Given the description of an element on the screen output the (x, y) to click on. 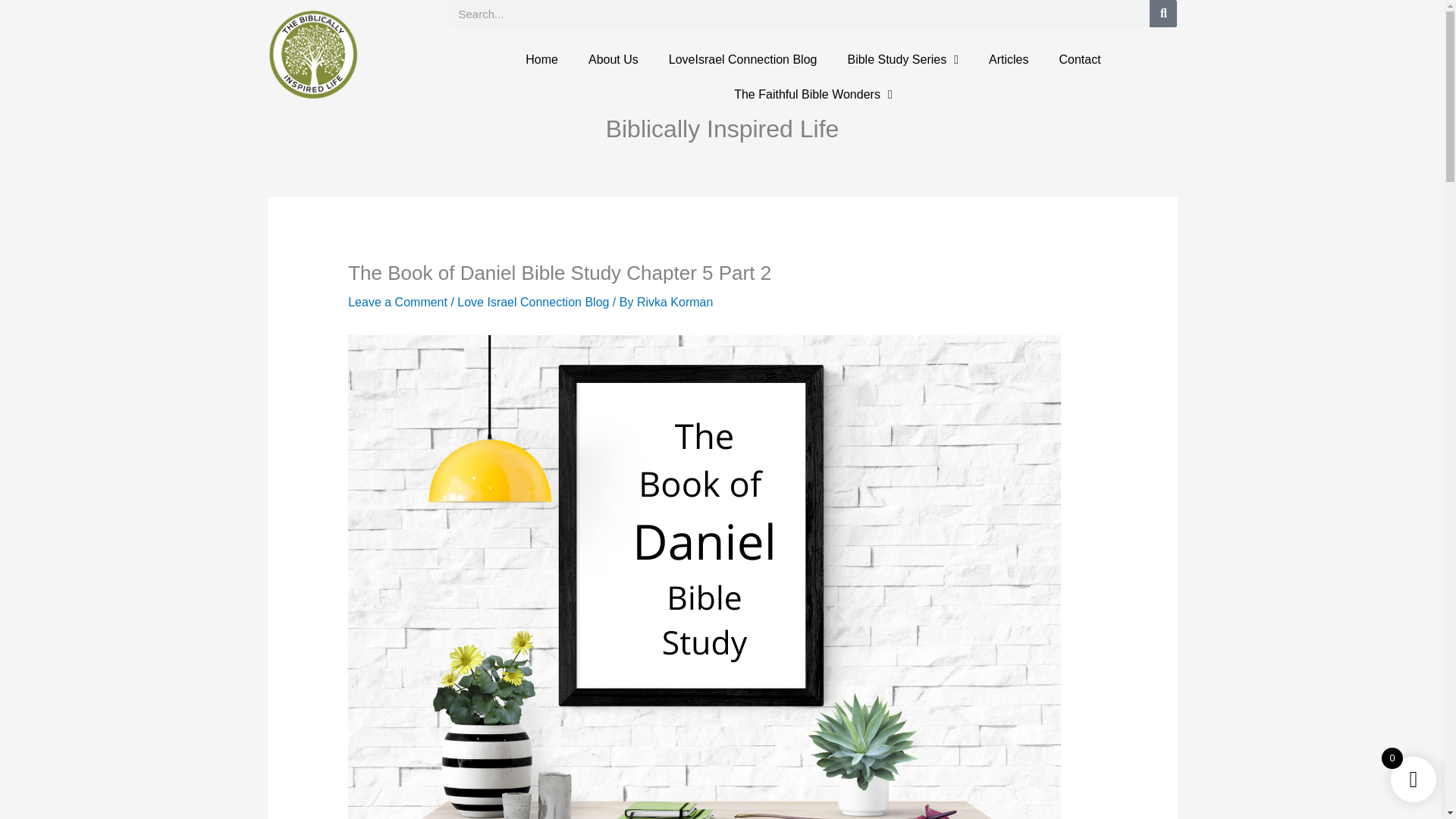
Bible Study Series (902, 59)
Biblically Inspired Life (722, 128)
View all posts by Rivka Korman (675, 301)
Leave a Comment (396, 301)
Love Israel Connection Blog (532, 301)
Rivka Korman (675, 301)
The Faithful Bible Wonders (813, 94)
Search (1163, 13)
LoveIsrael Connection Blog (742, 59)
Home (542, 59)
Articles (1008, 59)
About Us (613, 59)
Contact (1079, 59)
